Given the description of an element on the screen output the (x, y) to click on. 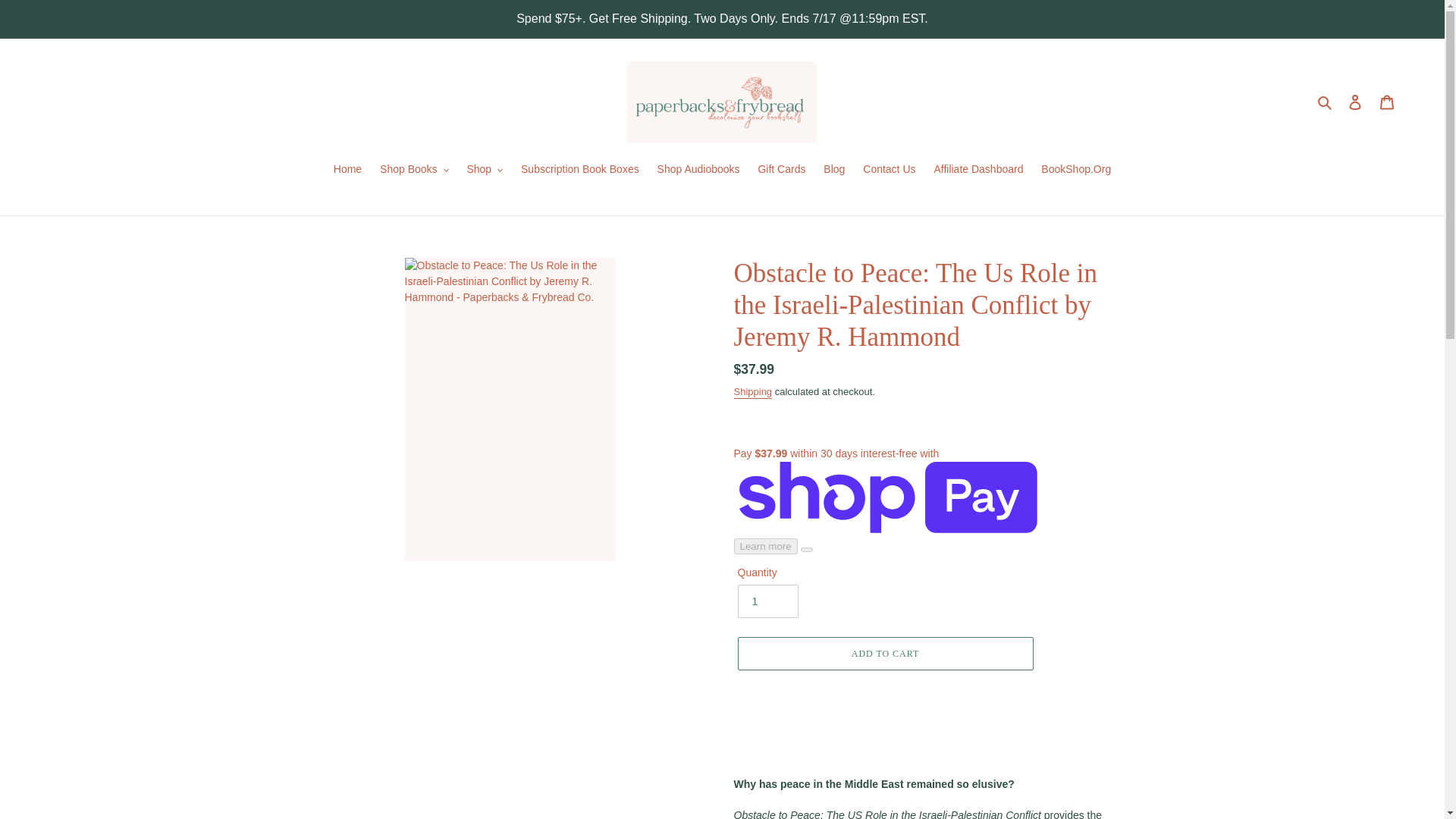
1 (766, 601)
Search (1326, 101)
Cart (1387, 101)
Log in (1355, 101)
